Given the description of an element on the screen output the (x, y) to click on. 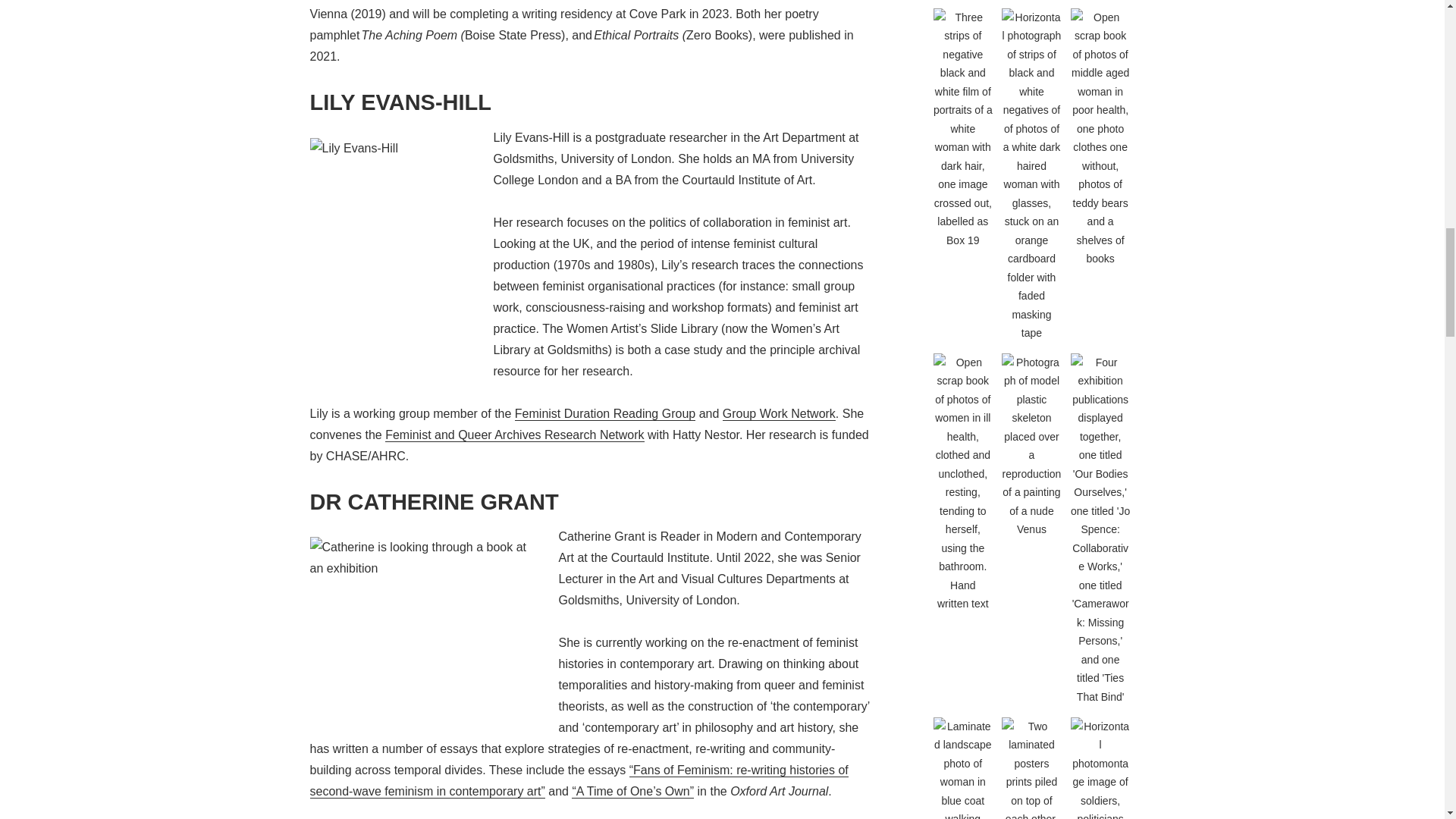
Feminist Duration Reading Group (605, 413)
Feminist and Queer Archives Research Network (514, 435)
Group Work Network (778, 413)
